Given the description of an element on the screen output the (x, y) to click on. 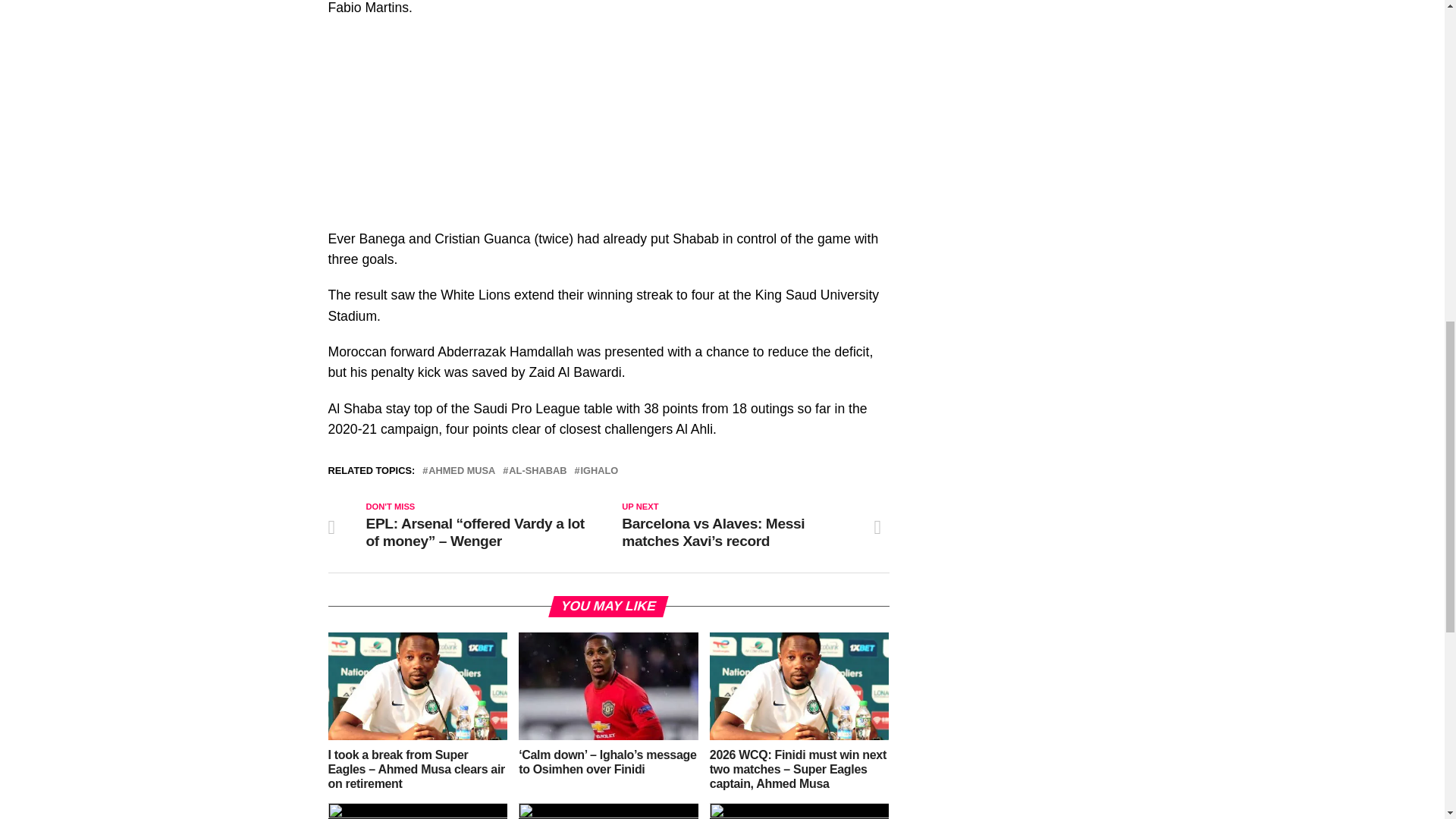
AHMED MUSA (461, 470)
AL-SHABAB (537, 470)
IGHALO (598, 470)
